Given the description of an element on the screen output the (x, y) to click on. 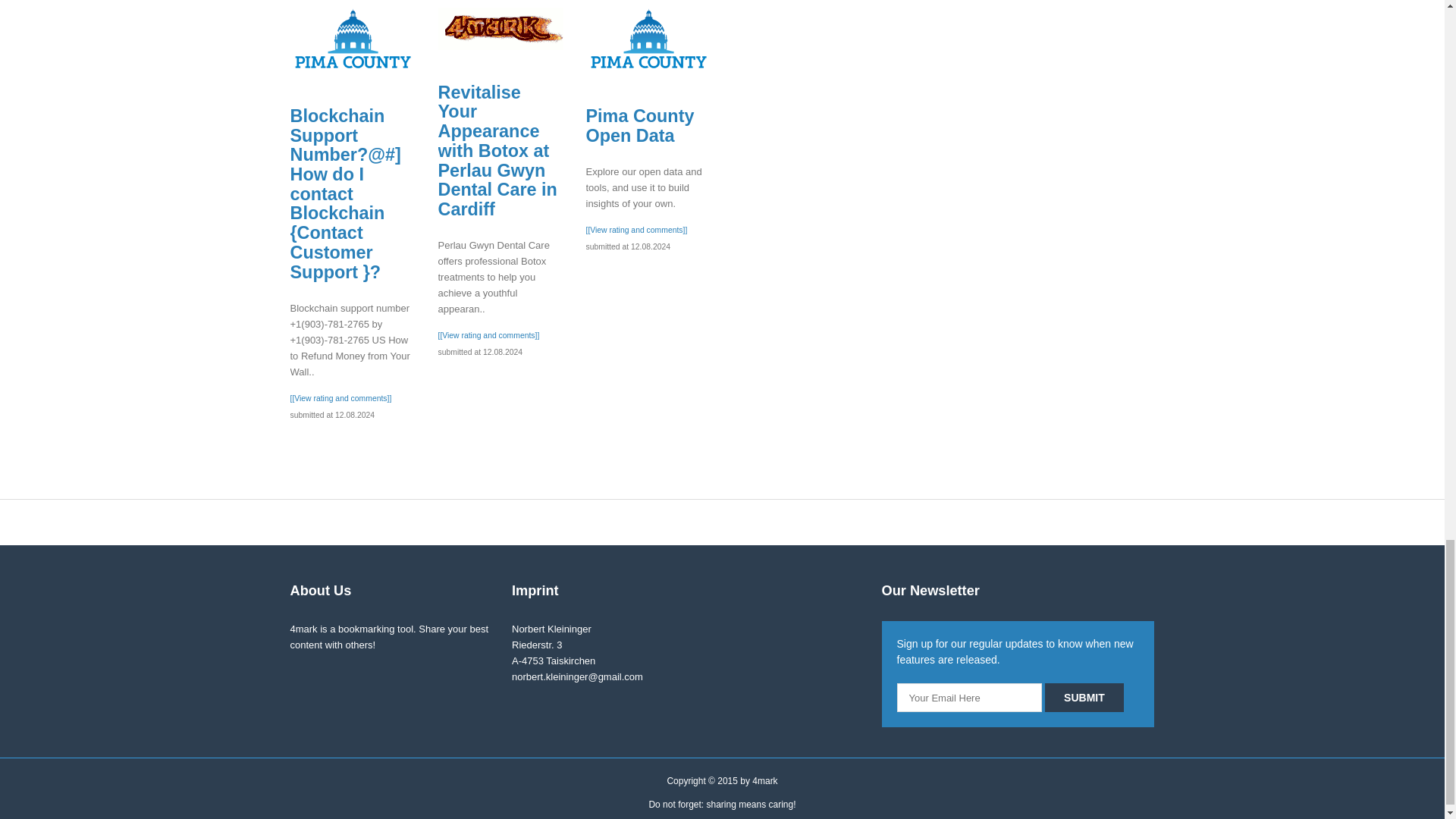
Submit (1084, 697)
Pima County Open Data (647, 40)
Email (969, 697)
